Given the description of an element on the screen output the (x, y) to click on. 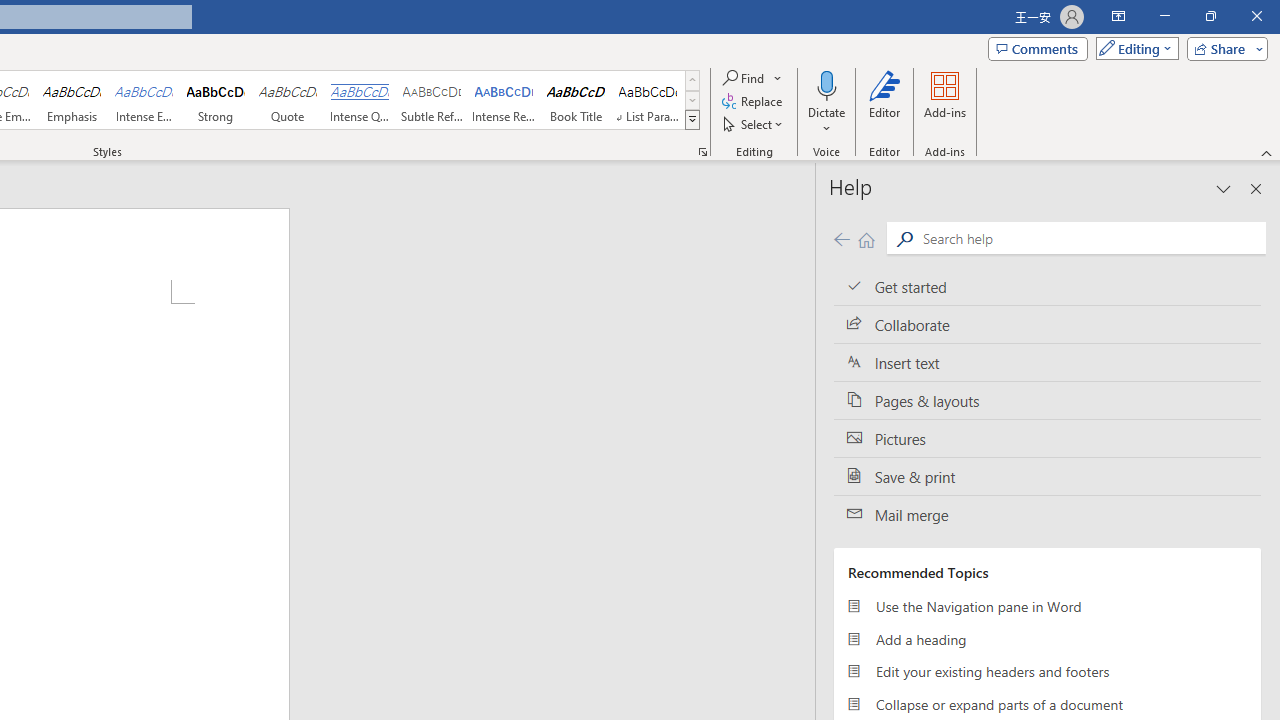
Styles... (702, 151)
Pictures (1047, 438)
Intense Reference (504, 100)
Collaborate (1047, 325)
Emphasis (71, 100)
Editor (885, 102)
Book Title (575, 100)
Edit your existing headers and footers (1047, 672)
Intense Emphasis (143, 100)
